Given the description of an element on the screen output the (x, y) to click on. 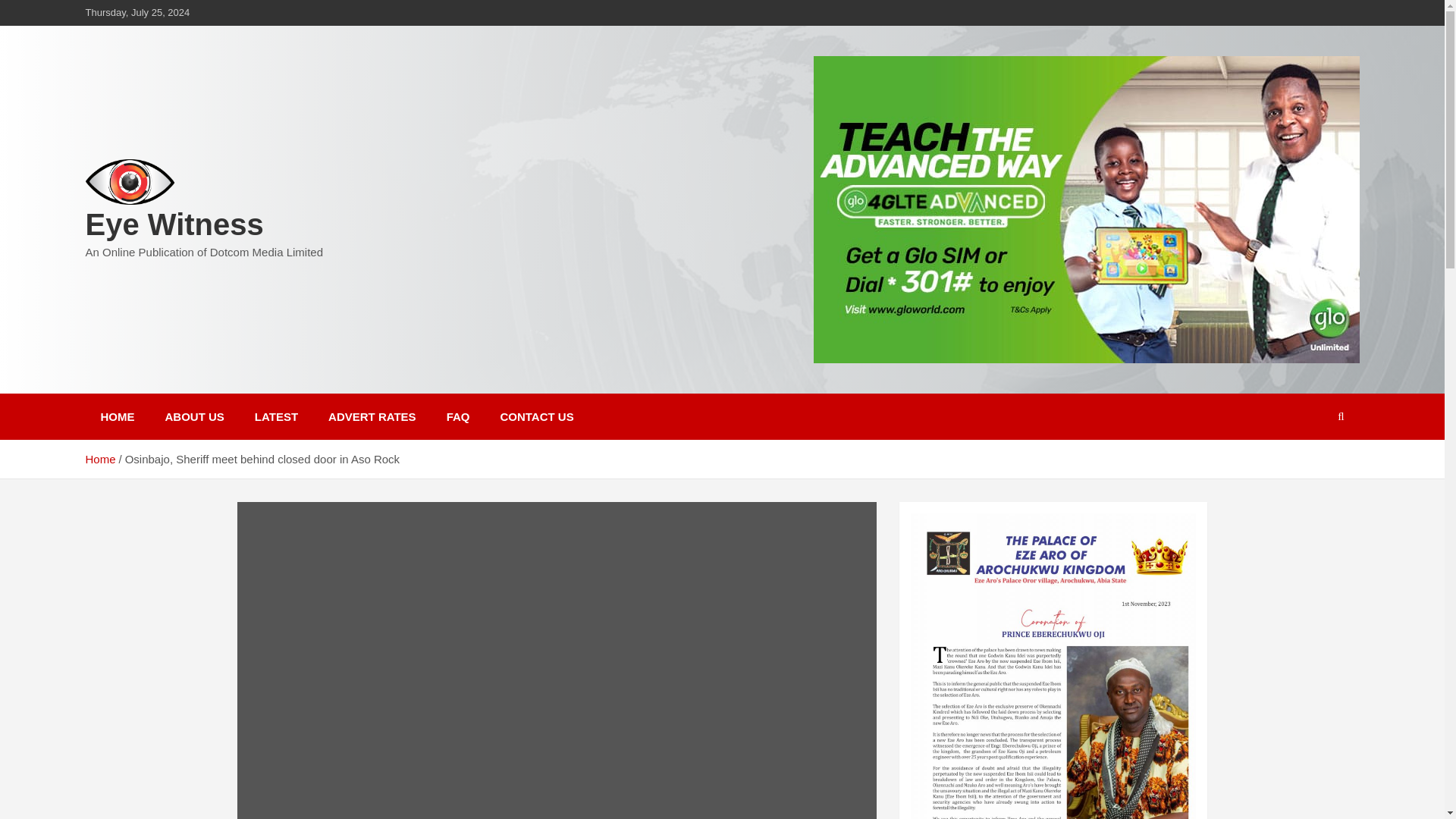
Eye Witness (173, 224)
ADVERT RATES (371, 416)
FAQ (457, 416)
ABOUT US (194, 416)
LATEST (276, 416)
Home (99, 459)
HOME (116, 416)
CONTACT US (536, 416)
